Given the description of an element on the screen output the (x, y) to click on. 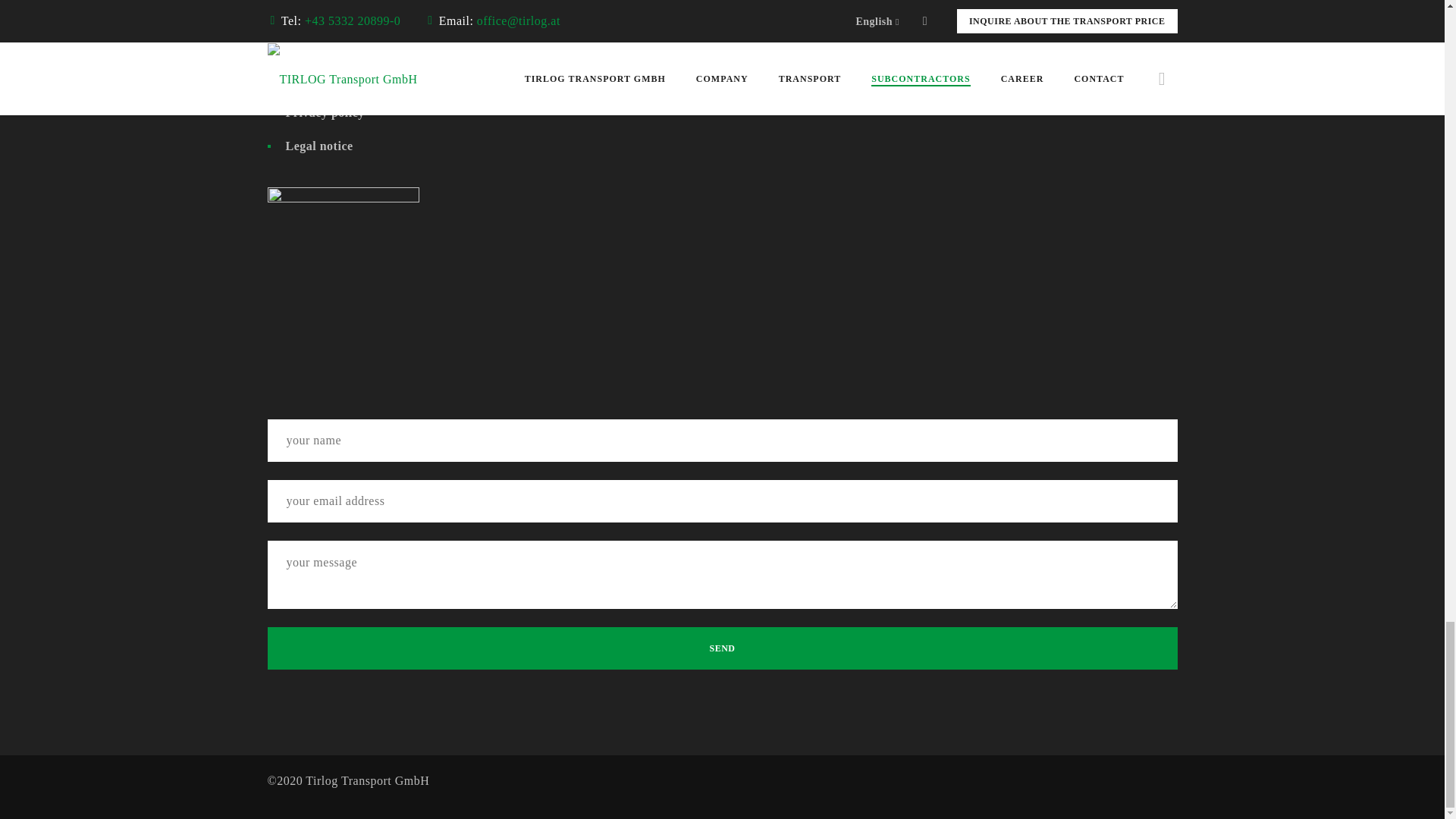
Send (721, 648)
spedition-tirlog-deutsch (342, 263)
